Given the description of an element on the screen output the (x, y) to click on. 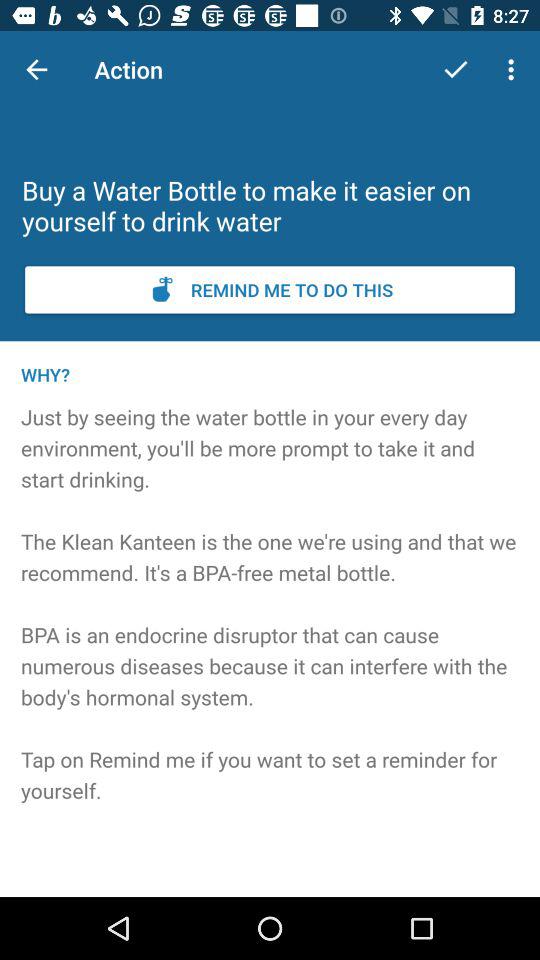
select item next to action item (36, 69)
